Given the description of an element on the screen output the (x, y) to click on. 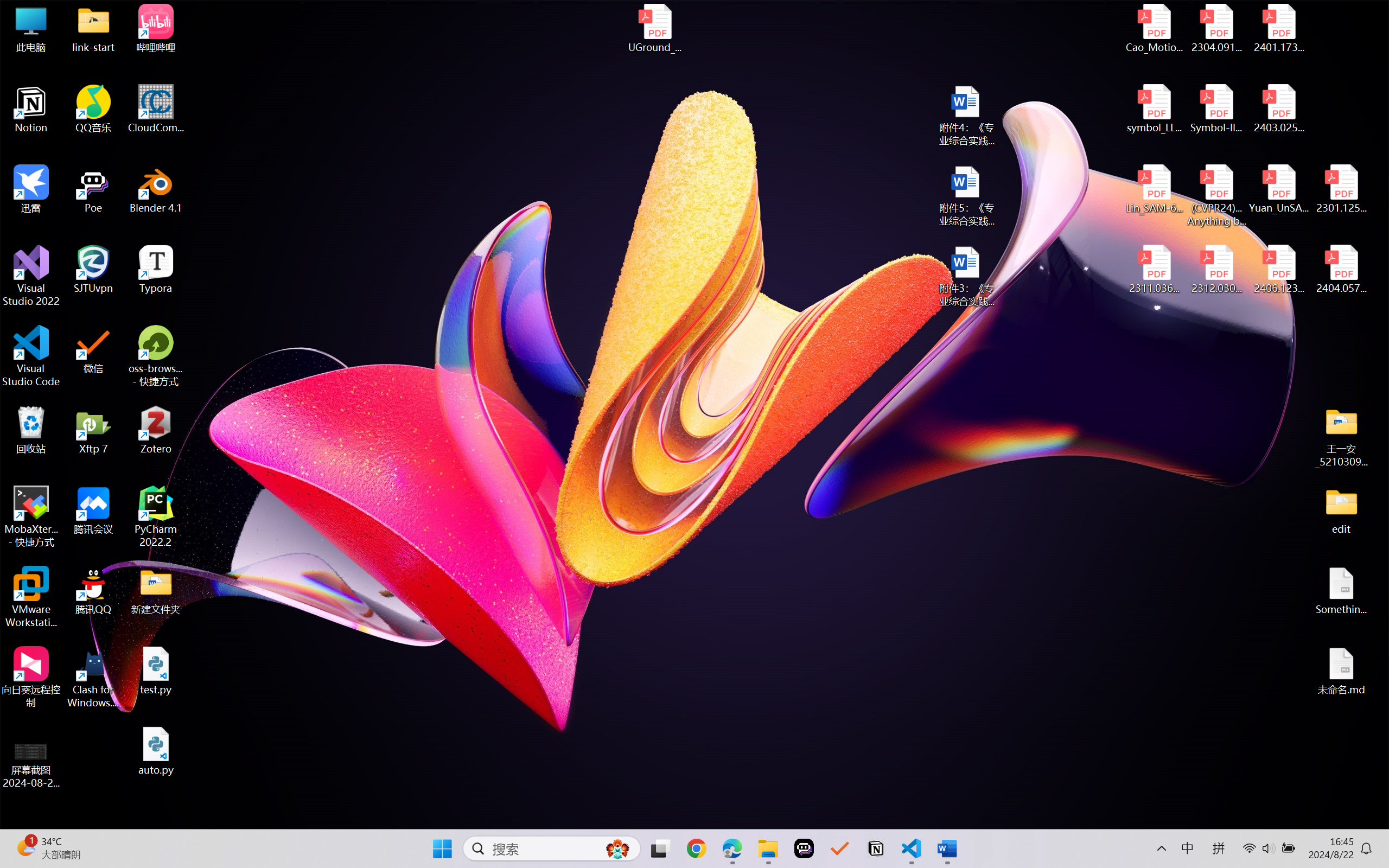
SJTUvpn (93, 269)
2403.02502v1.pdf (1278, 109)
VMware Workstation Pro (31, 597)
2312.03032v2.pdf (1216, 269)
2301.12597v3.pdf (1340, 189)
2311.03658v2.pdf (1154, 269)
Something.md (1340, 591)
